Given the description of an element on the screen output the (x, y) to click on. 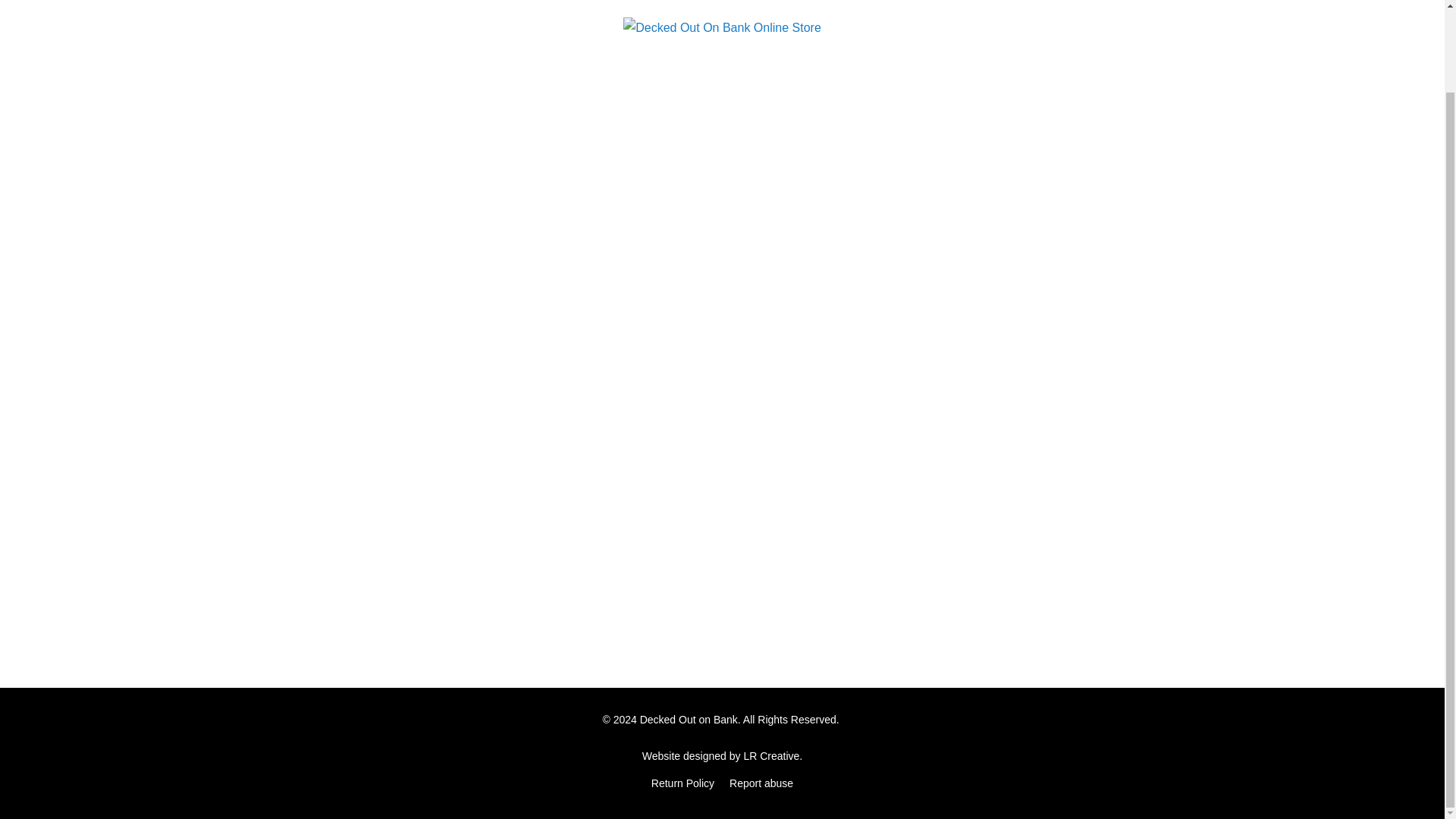
Report abuse (761, 782)
Return Policy (682, 782)
